Given the description of an element on the screen output the (x, y) to click on. 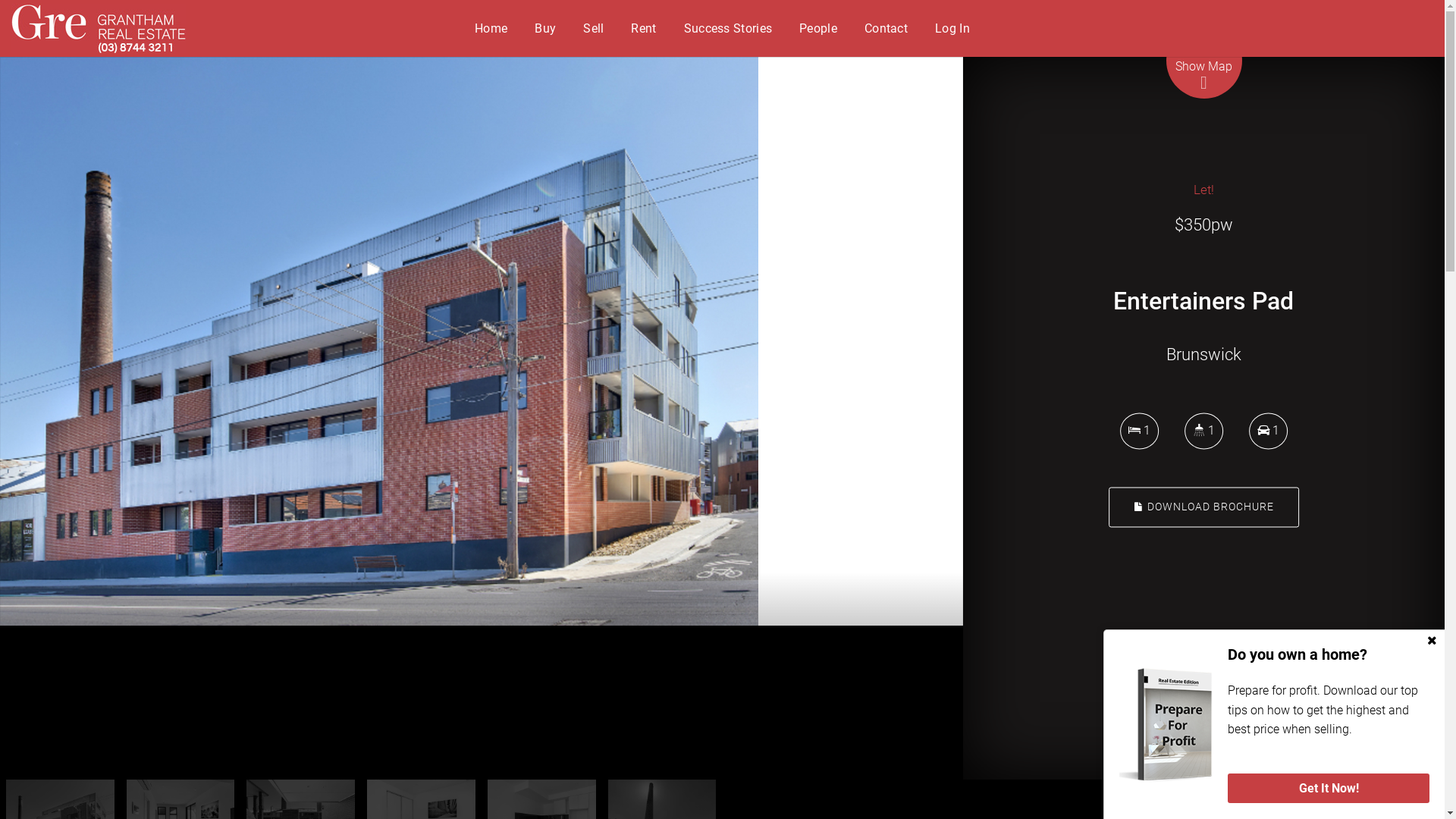
Get It Now! Element type: text (1328, 788)
Contact Element type: text (885, 28)
Brunswick Element type: hover (379, 339)
Sell Element type: text (593, 28)
Log In Element type: text (952, 28)
Show Map Element type: text (1204, 75)
Rent Element type: text (642, 28)
Home Element type: text (490, 28)
Buy Element type: text (544, 28)
People Element type: text (818, 28)
Success Stories Element type: text (728, 28)
DOWNLOAD BROCHURE Element type: text (1203, 506)
